Given the description of an element on the screen output the (x, y) to click on. 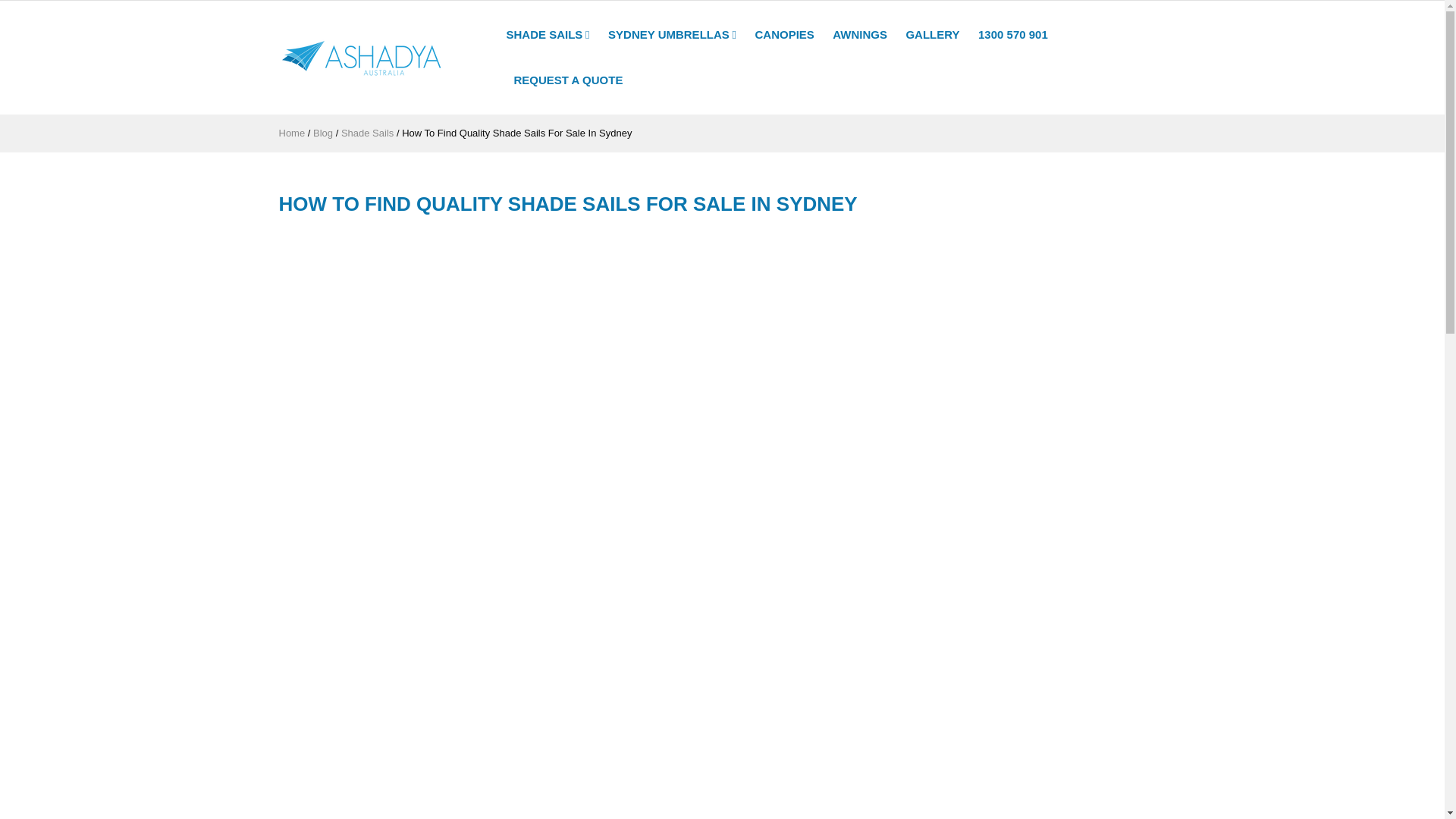
SHADE SAILS (551, 34)
